Given the description of an element on the screen output the (x, y) to click on. 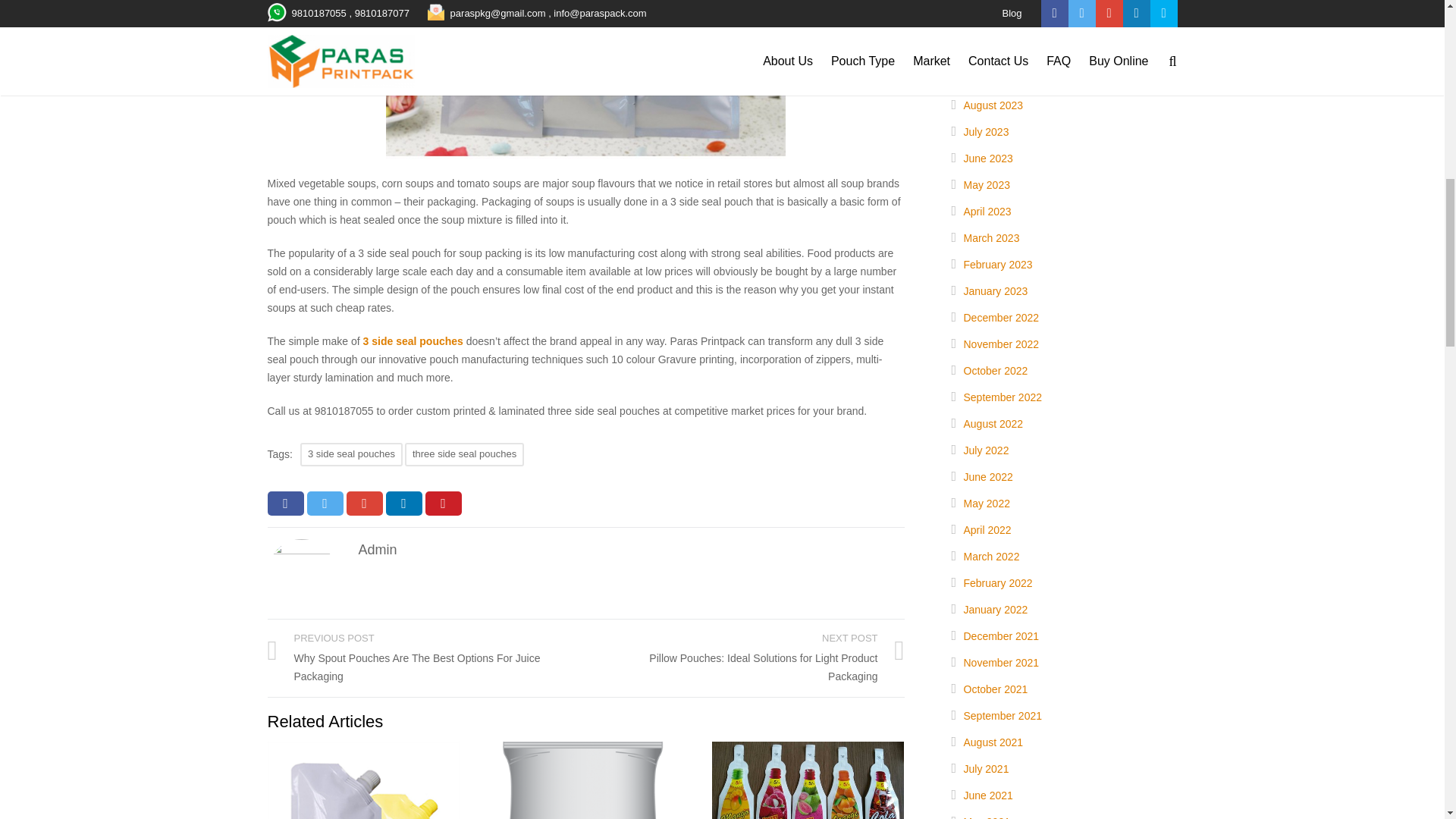
Pin this (443, 503)
Back to top (1413, 20)
Share this (284, 503)
Share this (403, 503)
Share this (363, 503)
Tweet this (323, 503)
